Given the description of an element on the screen output the (x, y) to click on. 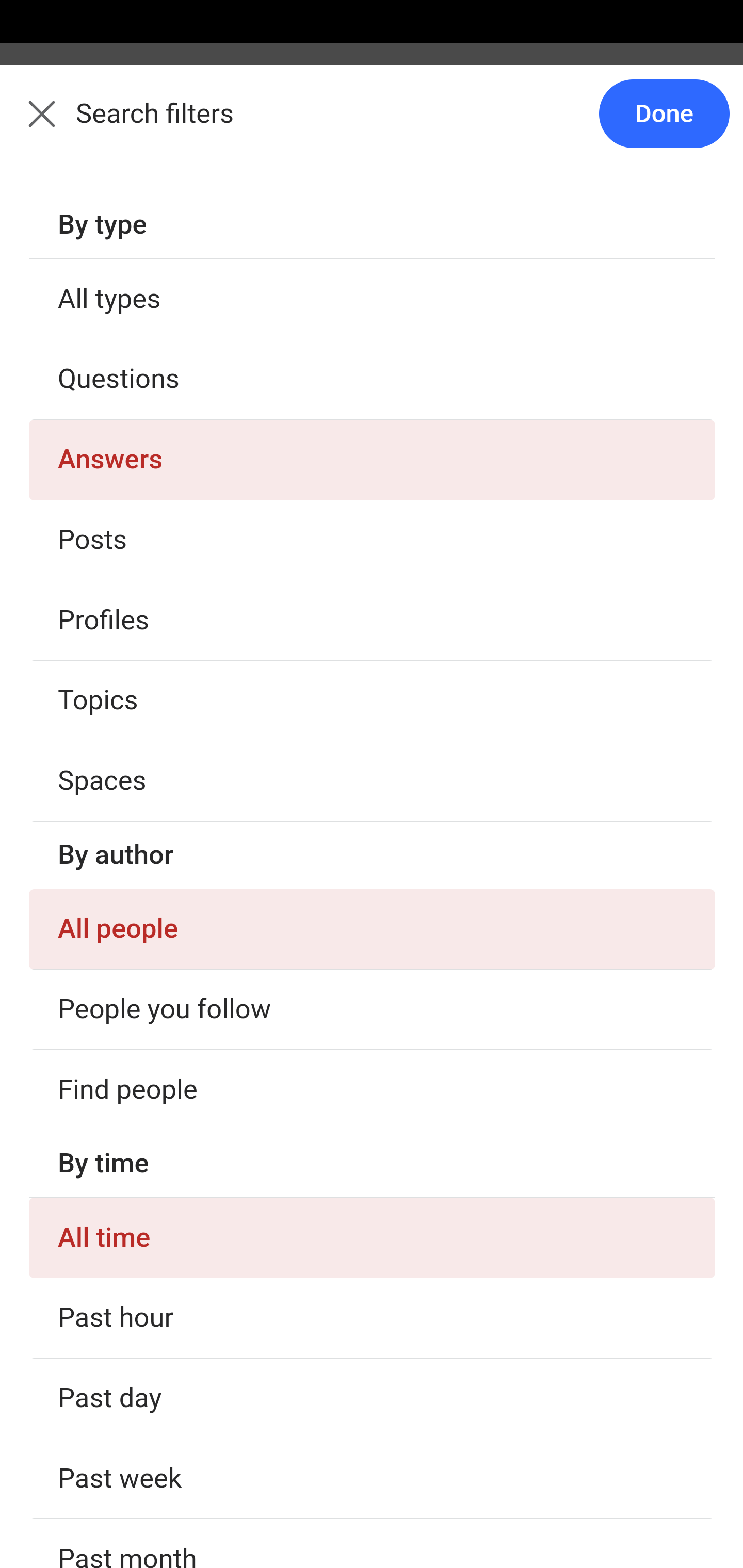
Back Search (371, 125)
Back (30, 125)
Upvote (133, 544)
Answer (125, 783)
